Given the description of an element on the screen output the (x, y) to click on. 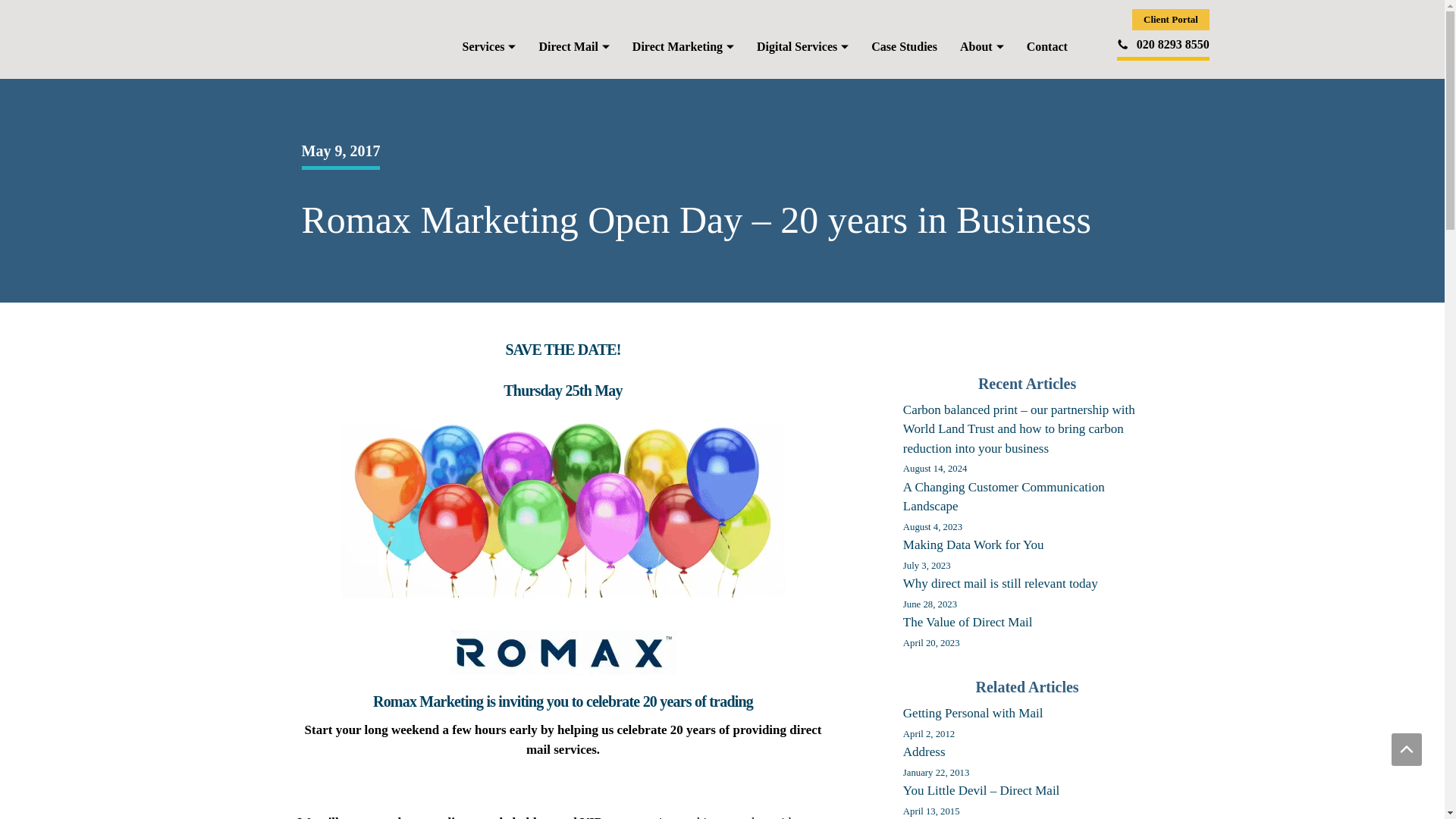
Address (935, 761)
Getting Personal with Mail (972, 722)
A Changing Customer Communication Landscape (1003, 506)
Why direct mail is still relevant today (999, 593)
Making Data Work for You (972, 554)
Direct Mail (573, 46)
The Value of Direct Mail (967, 632)
Services (488, 46)
